Given the description of an element on the screen output the (x, y) to click on. 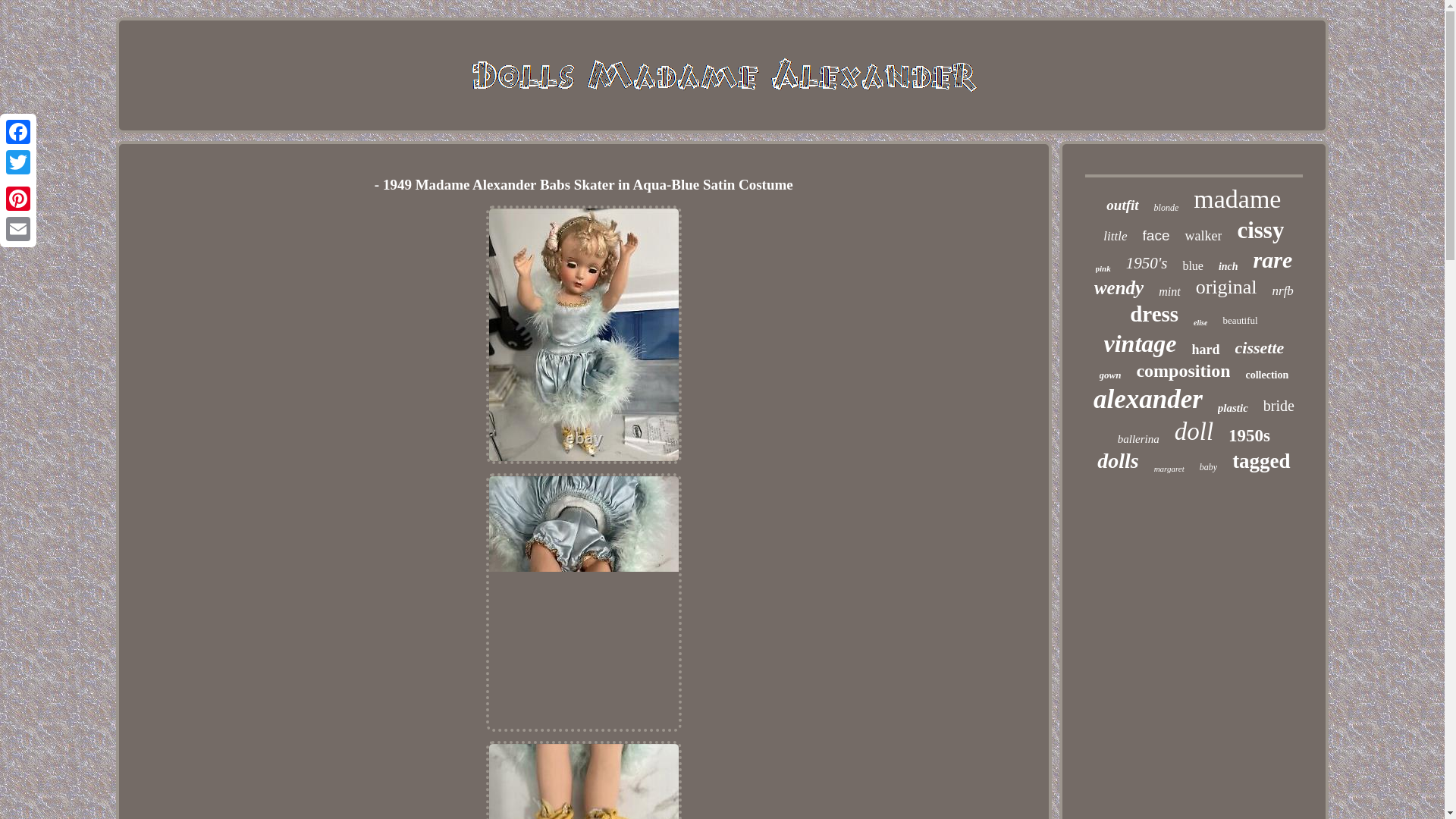
dress (1153, 314)
outfit (1122, 205)
hard (1206, 349)
walker (1203, 236)
nrfb (1283, 290)
original (1226, 287)
Facebook (17, 132)
wendy (1118, 287)
inch (1228, 266)
face (1156, 235)
